Given the description of an element on the screen output the (x, y) to click on. 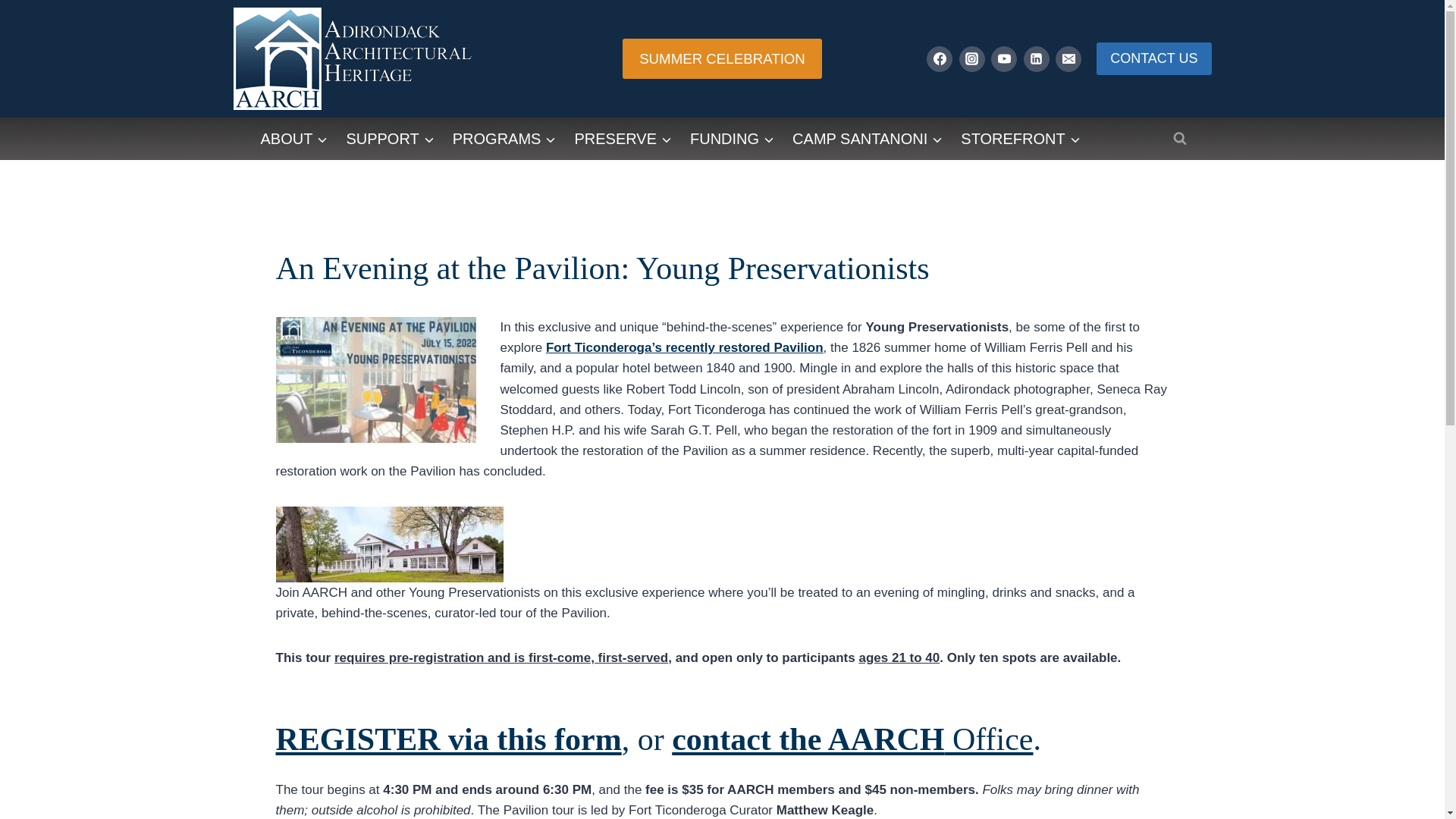
PROGRAMS (505, 138)
ABOUT (294, 138)
CONTACT US (1153, 58)
SUMMER CELEBRATION (722, 57)
SUPPORT (389, 138)
